Given the description of an element on the screen output the (x, y) to click on. 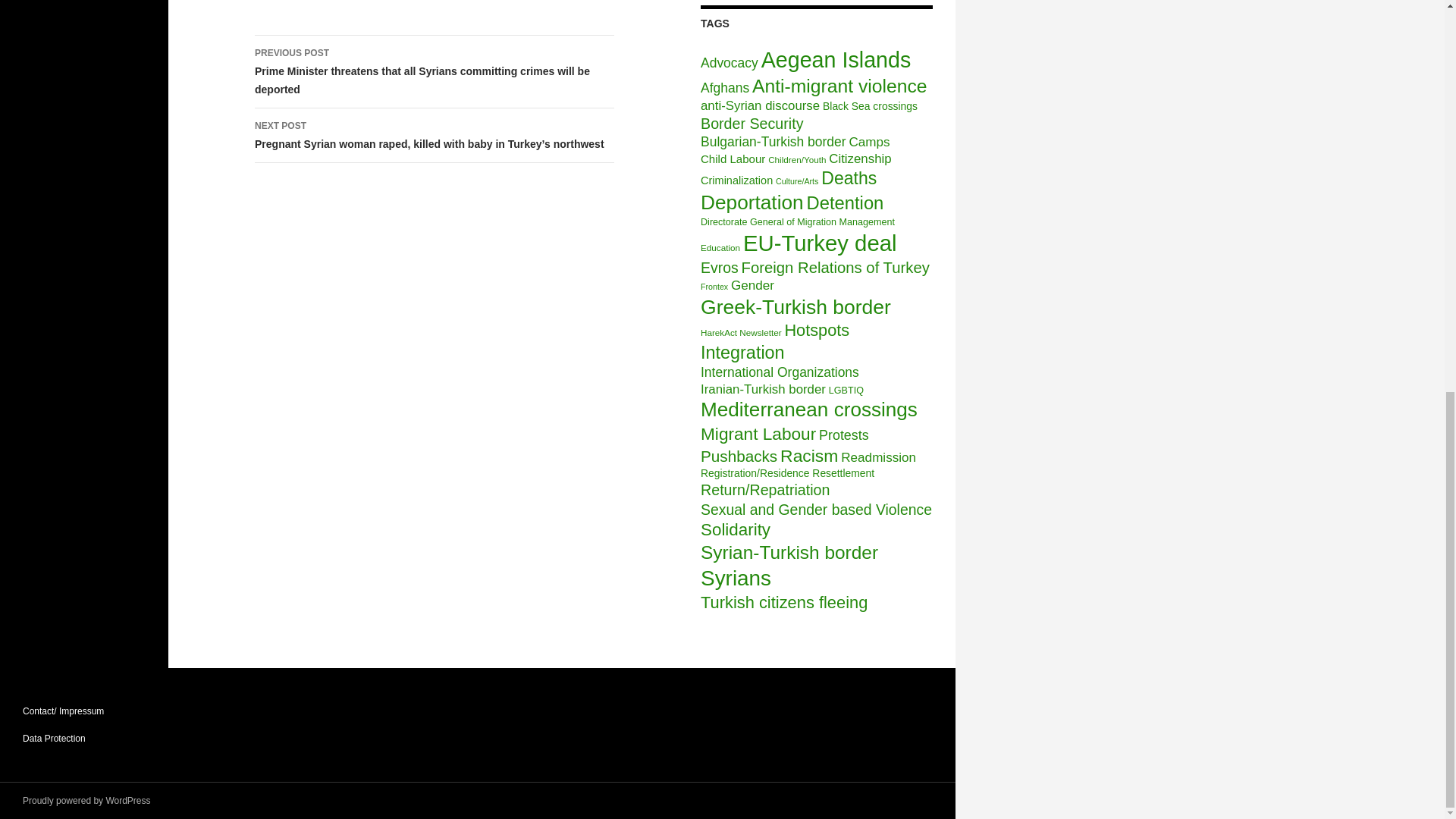
Aegean Islands (836, 59)
Advocacy (729, 62)
Afghans (724, 87)
